Given the description of an element on the screen output the (x, y) to click on. 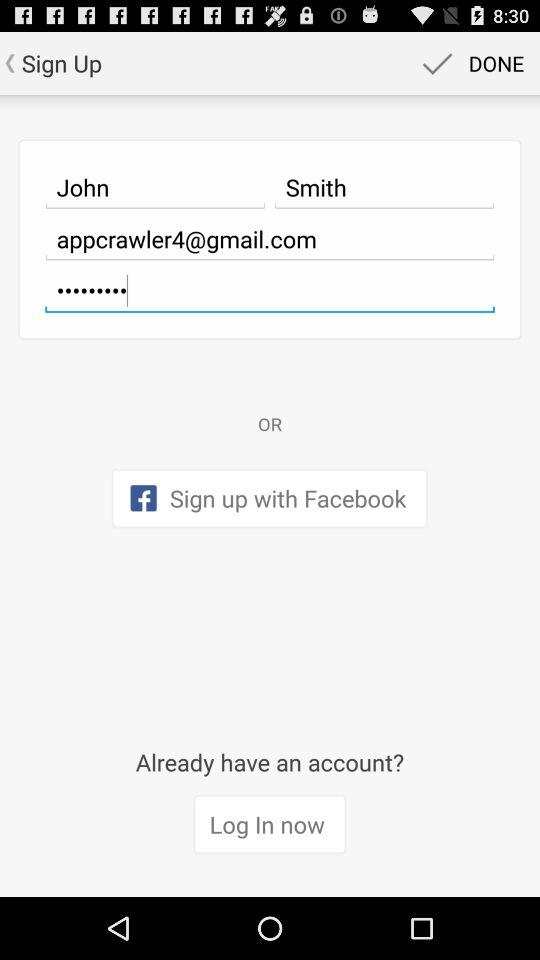
open smith item (384, 187)
